Given the description of an element on the screen output the (x, y) to click on. 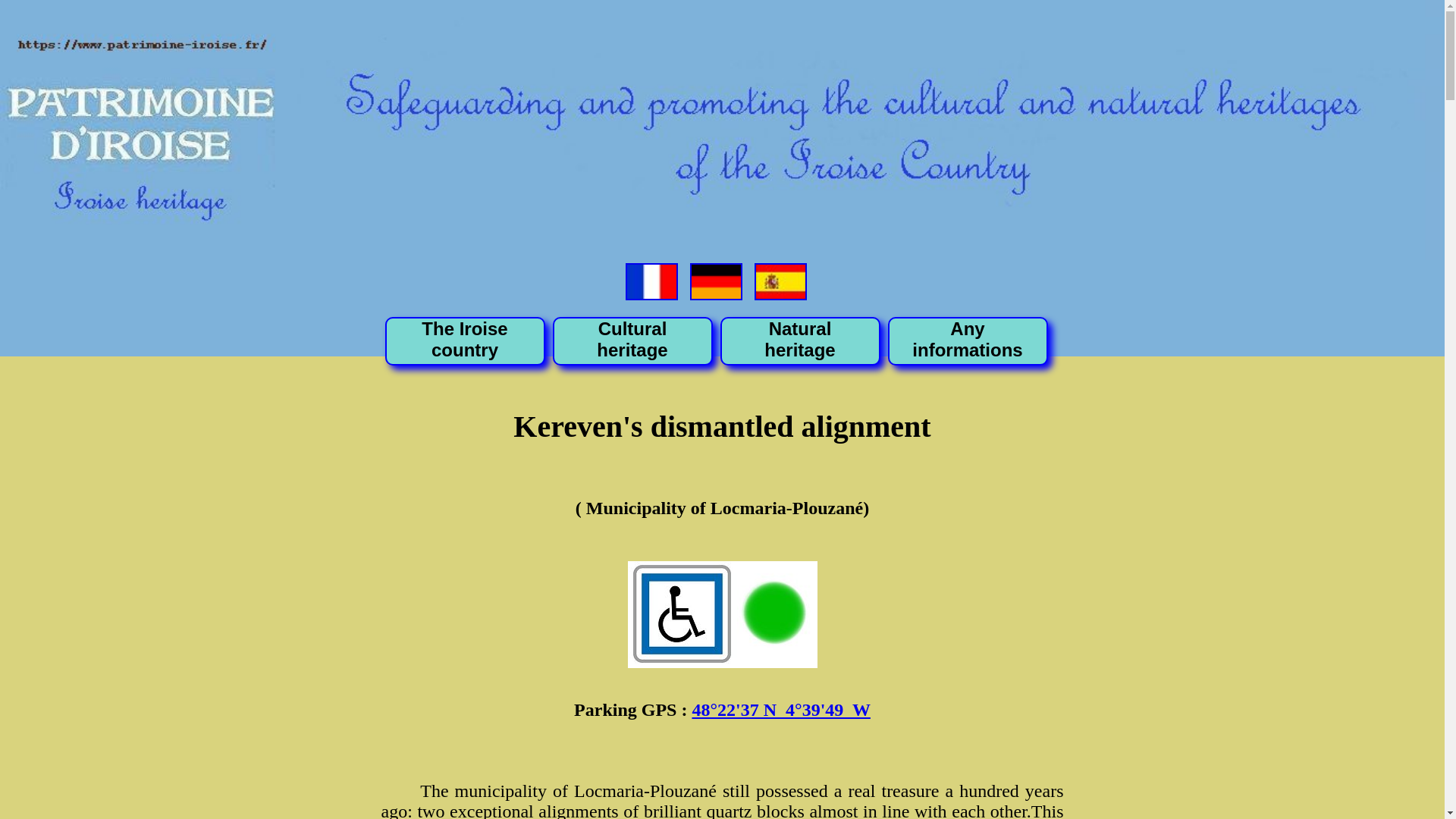
French (967, 339)
German (652, 280)
Spanish (716, 280)
